Given the description of an element on the screen output the (x, y) to click on. 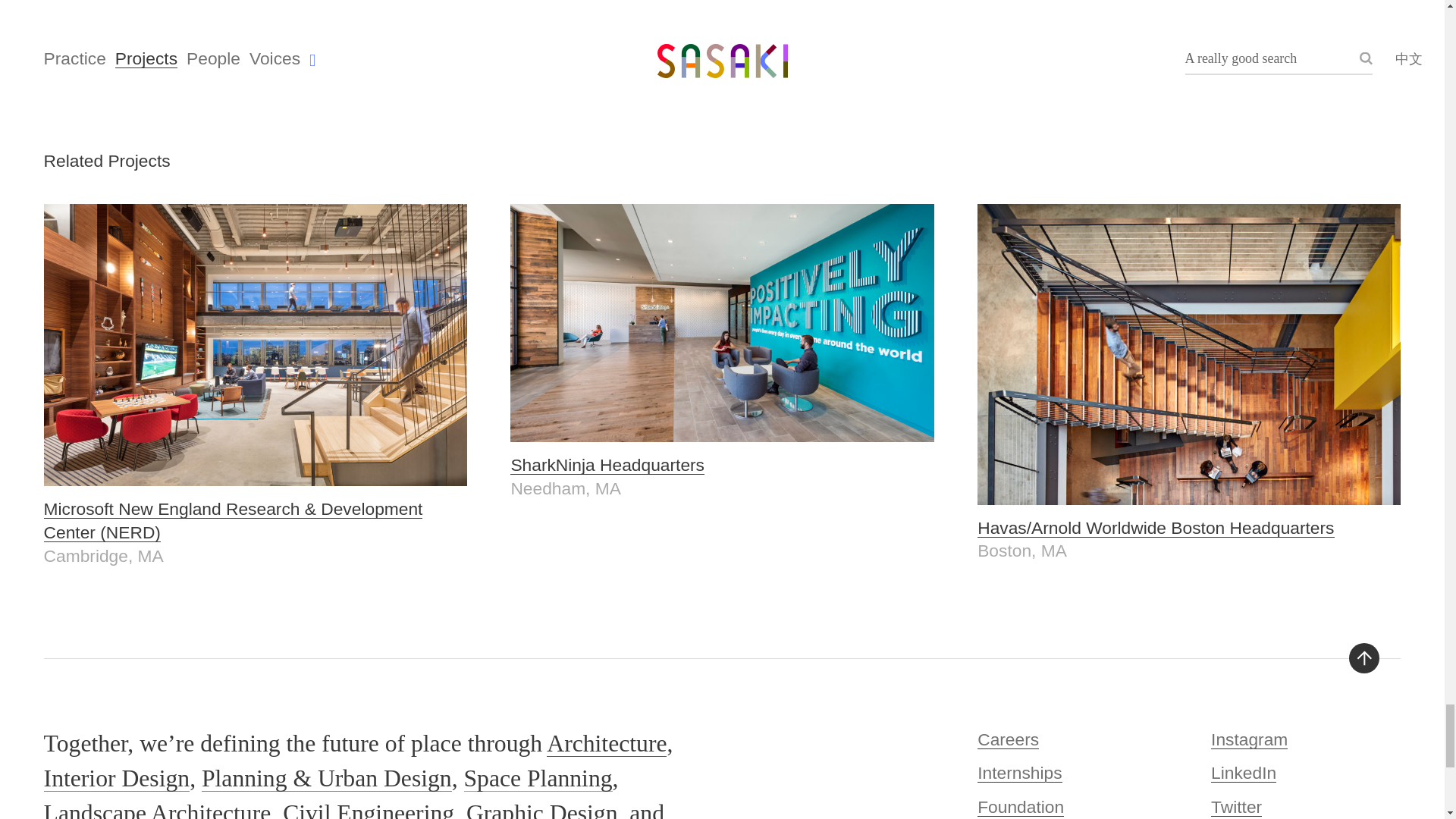
Instagram (1249, 739)
Careers (1007, 739)
Internships (1018, 772)
Back to top (1363, 657)
Landscape Architecture (156, 809)
Space Planning (538, 777)
Twitter (1236, 806)
Architecture (606, 743)
Foundation (1020, 806)
Civil Engineering (368, 809)
Interior Design (116, 777)
LinkedIn (1243, 772)
Graphic Design (722, 351)
